Given the description of an element on the screen output the (x, y) to click on. 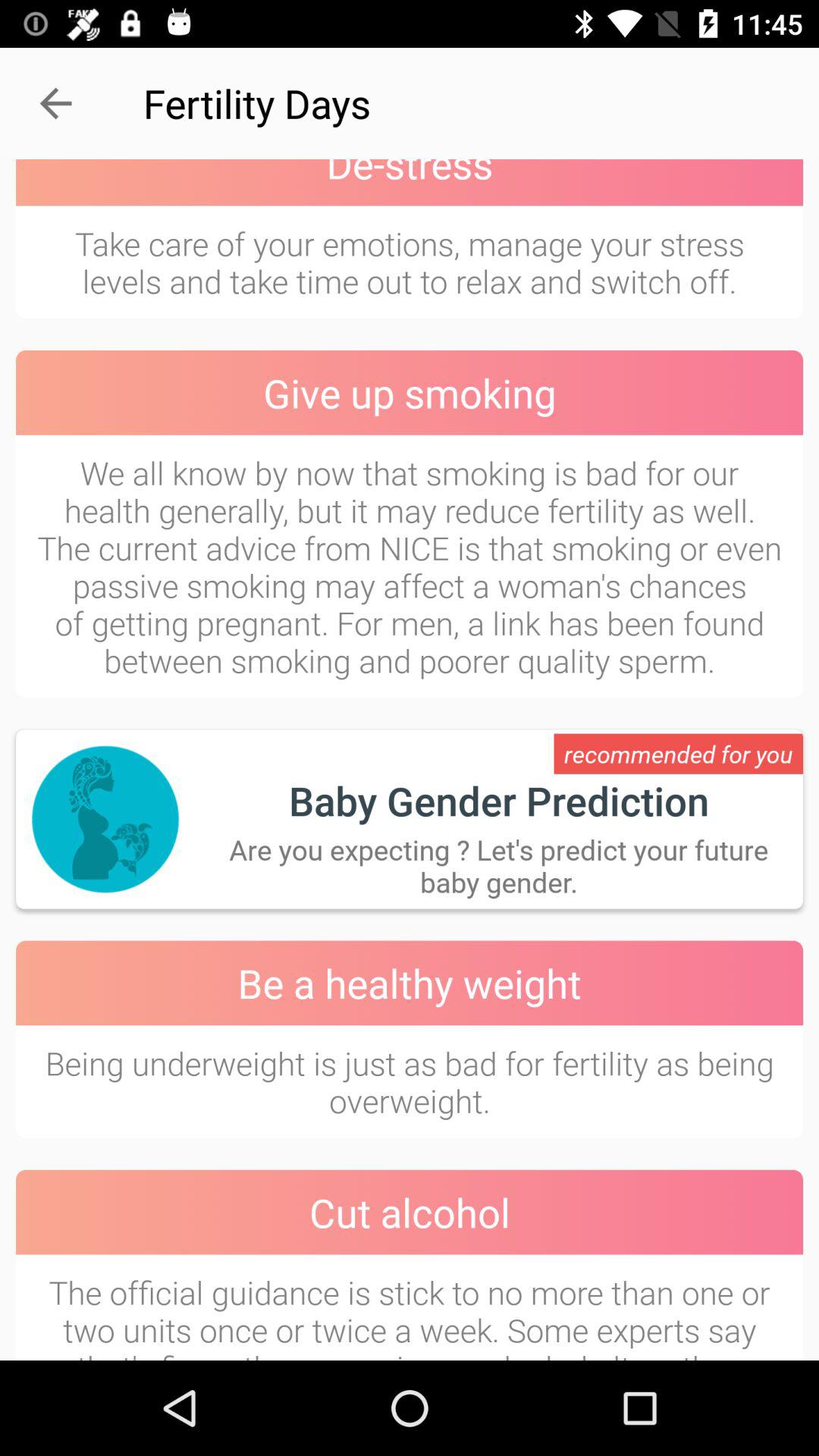
select the item to the left of the fertility days icon (55, 103)
